Given the description of an element on the screen output the (x, y) to click on. 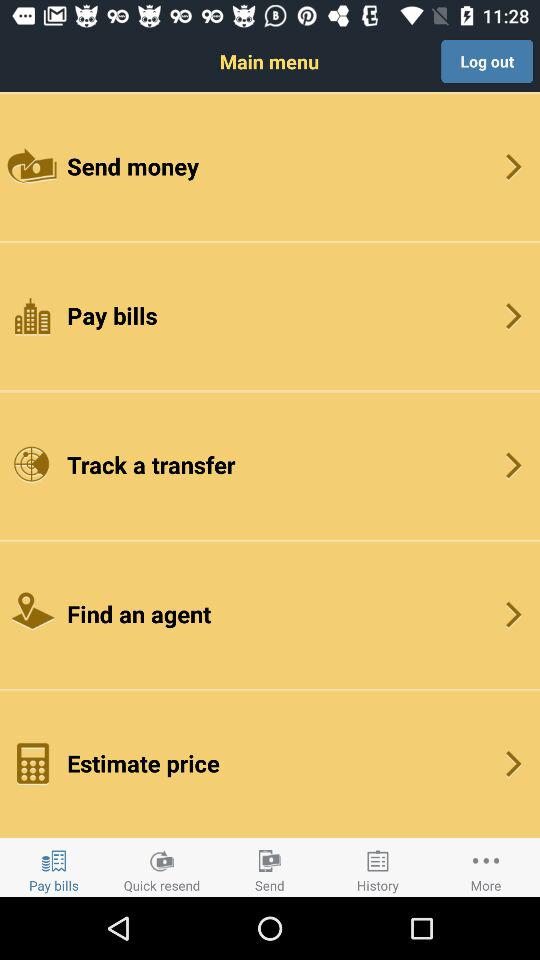
choose log out (487, 61)
